Given the description of an element on the screen output the (x, y) to click on. 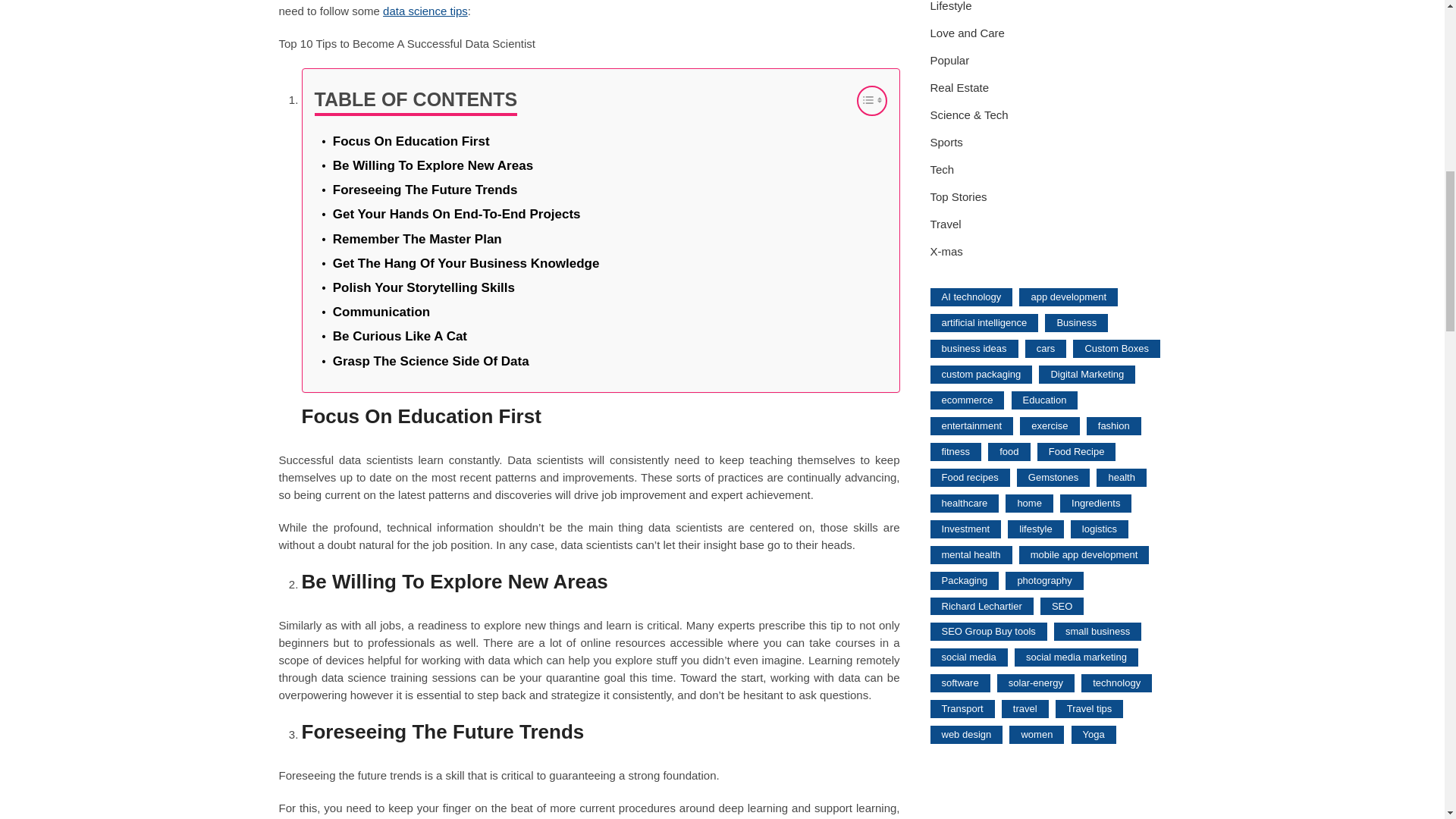
Focus On Education First (411, 141)
Get Your Hands On End-To-End Projects (456, 213)
Be Curious Like A Cat (400, 335)
Communication (381, 312)
Get The Hang Of Your Business Knowledge (466, 263)
Foreseeing The Future Trends (425, 189)
Remember The Master Plan (417, 239)
Polish Your Storytelling Skills (424, 287)
Grasp The Science Side Of Data (431, 361)
Be Willing To Explore New Areas (432, 165)
